Given the description of an element on the screen output the (x, y) to click on. 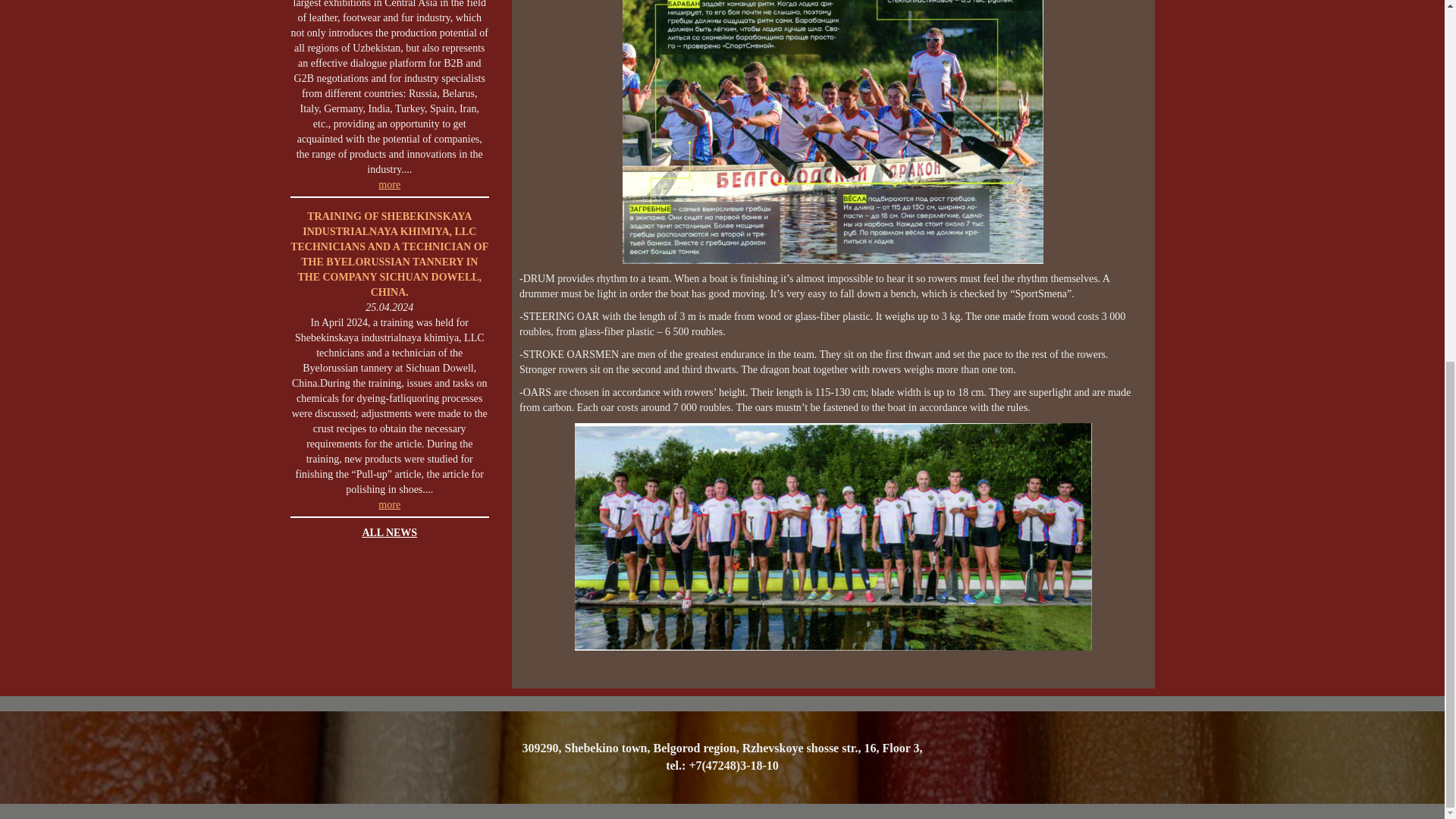
ALL NEWS (388, 532)
more (389, 184)
more (389, 504)
